Given the description of an element on the screen output the (x, y) to click on. 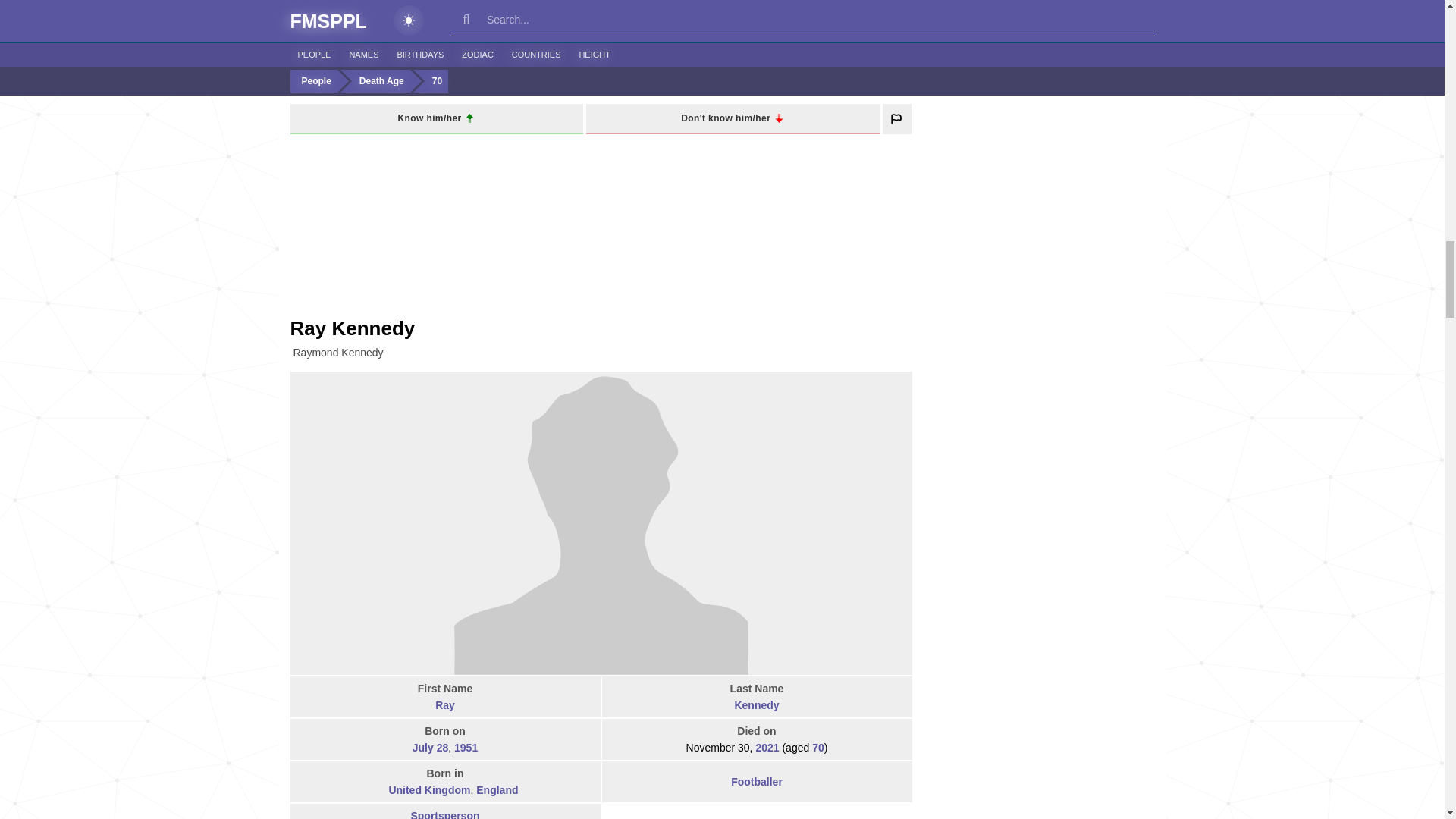
United Kingdom (378, 791)
